Given the description of an element on the screen output the (x, y) to click on. 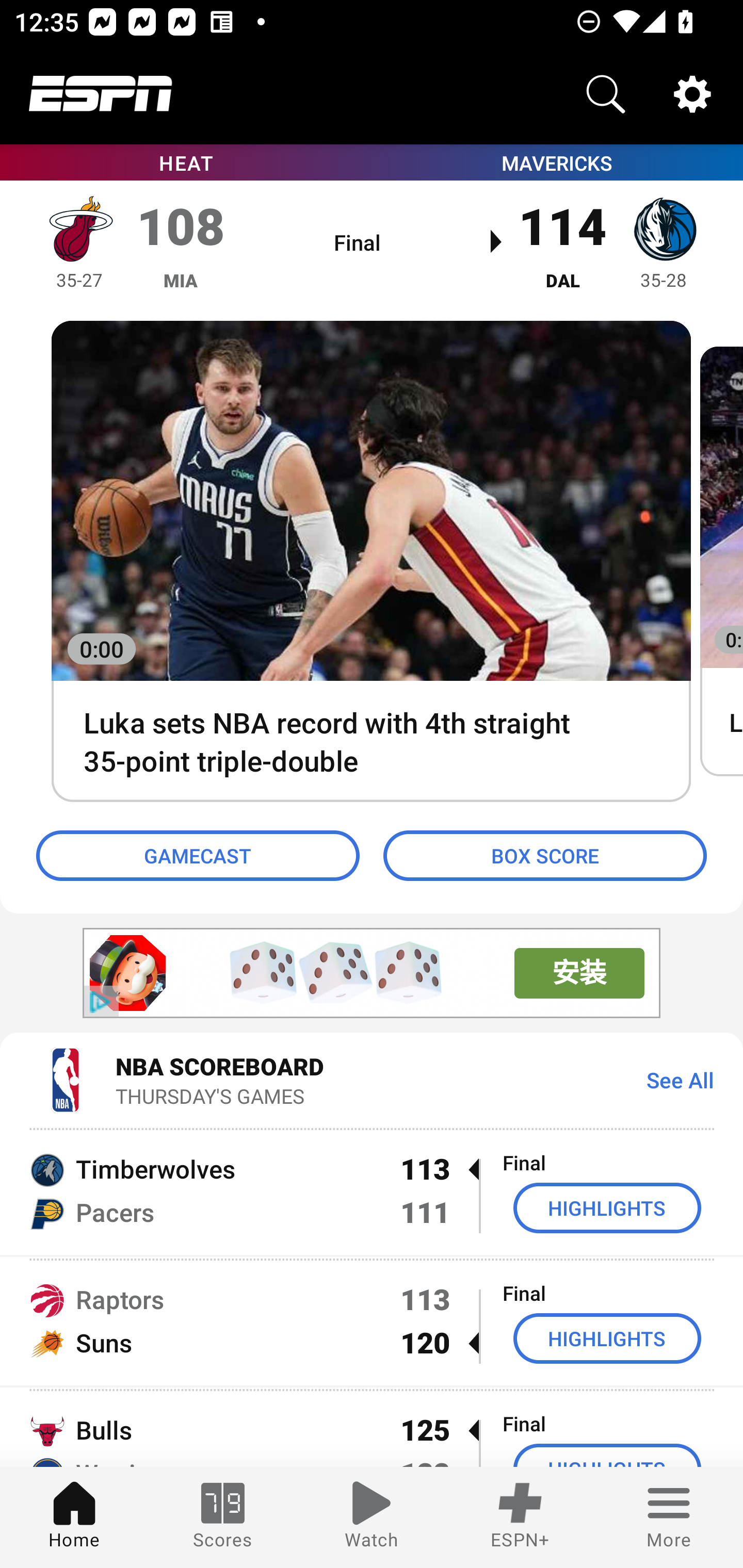
Search (605, 93)
Settings (692, 93)
GAMECAST (197, 856)
BOX SCORE (544, 856)
90ddee7bfe49407238cd (128, 973)
安装 (578, 972)
NBA SCOREBOARD THURSDAY'S GAMES See All (371, 1079)
Timberwolves 113  Final Pacers 111 HIGHLIGHTS (371, 1189)
HIGHLIGHTS (607, 1208)
Raptors 113 Final Suns 120  HIGHLIGHTS (371, 1321)
HIGHLIGHTS (607, 1338)
Bulls 125  Final Warriors 122 HIGHLIGHTS (371, 1427)
Scores (222, 1517)
Watch (371, 1517)
ESPN+ (519, 1517)
More (668, 1517)
